Given the description of an element on the screen output the (x, y) to click on. 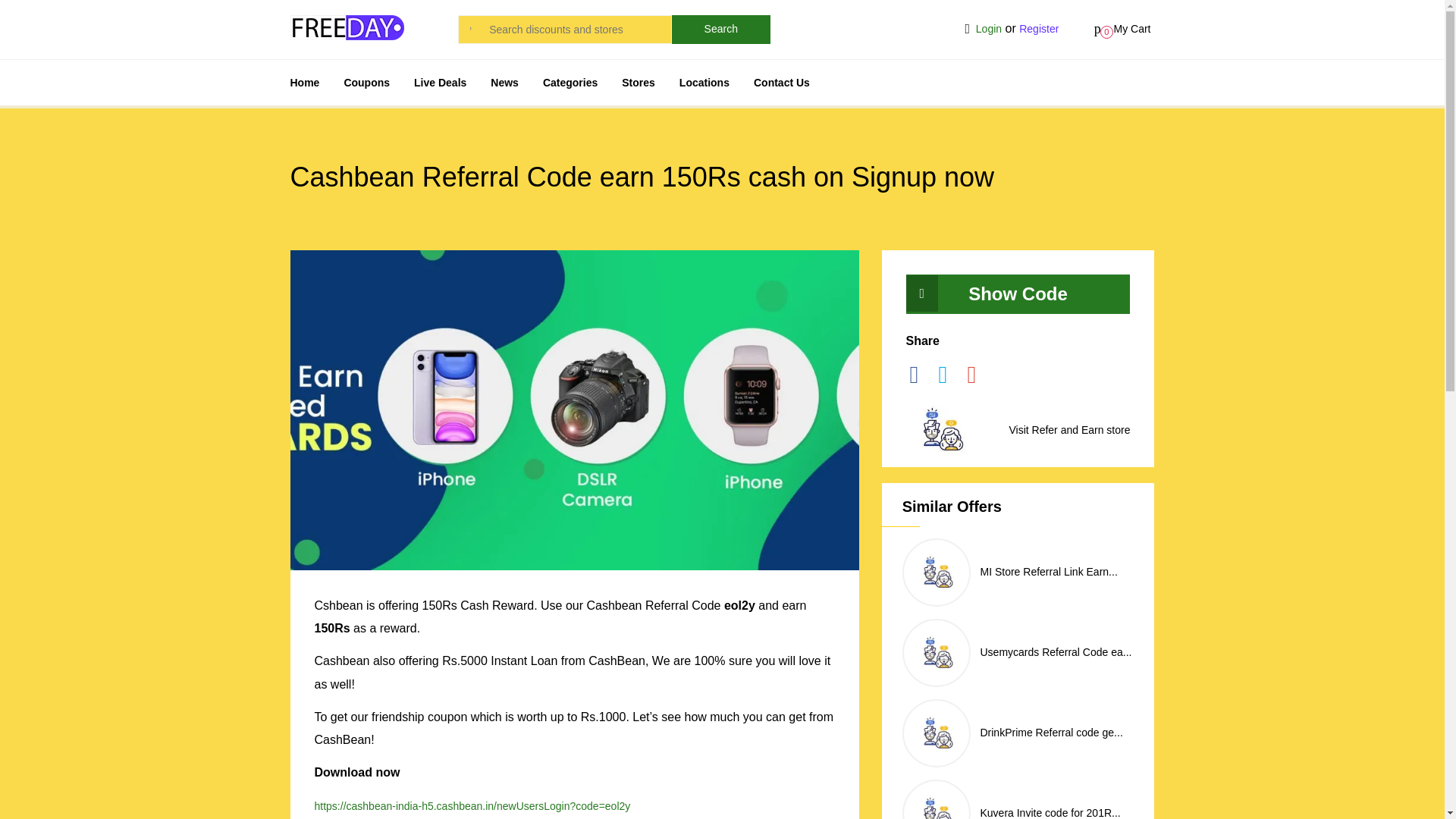
Categories (569, 82)
Live Deals (439, 82)
Stores (638, 82)
Categories (569, 82)
Register (1038, 28)
Coupons (366, 82)
Contact Us (781, 82)
Home (303, 82)
Contact Us (781, 82)
Home (303, 82)
Stores (638, 82)
Search (720, 29)
Locations (704, 82)
Live Deals (439, 82)
Login (988, 28)
